Given the description of an element on the screen output the (x, y) to click on. 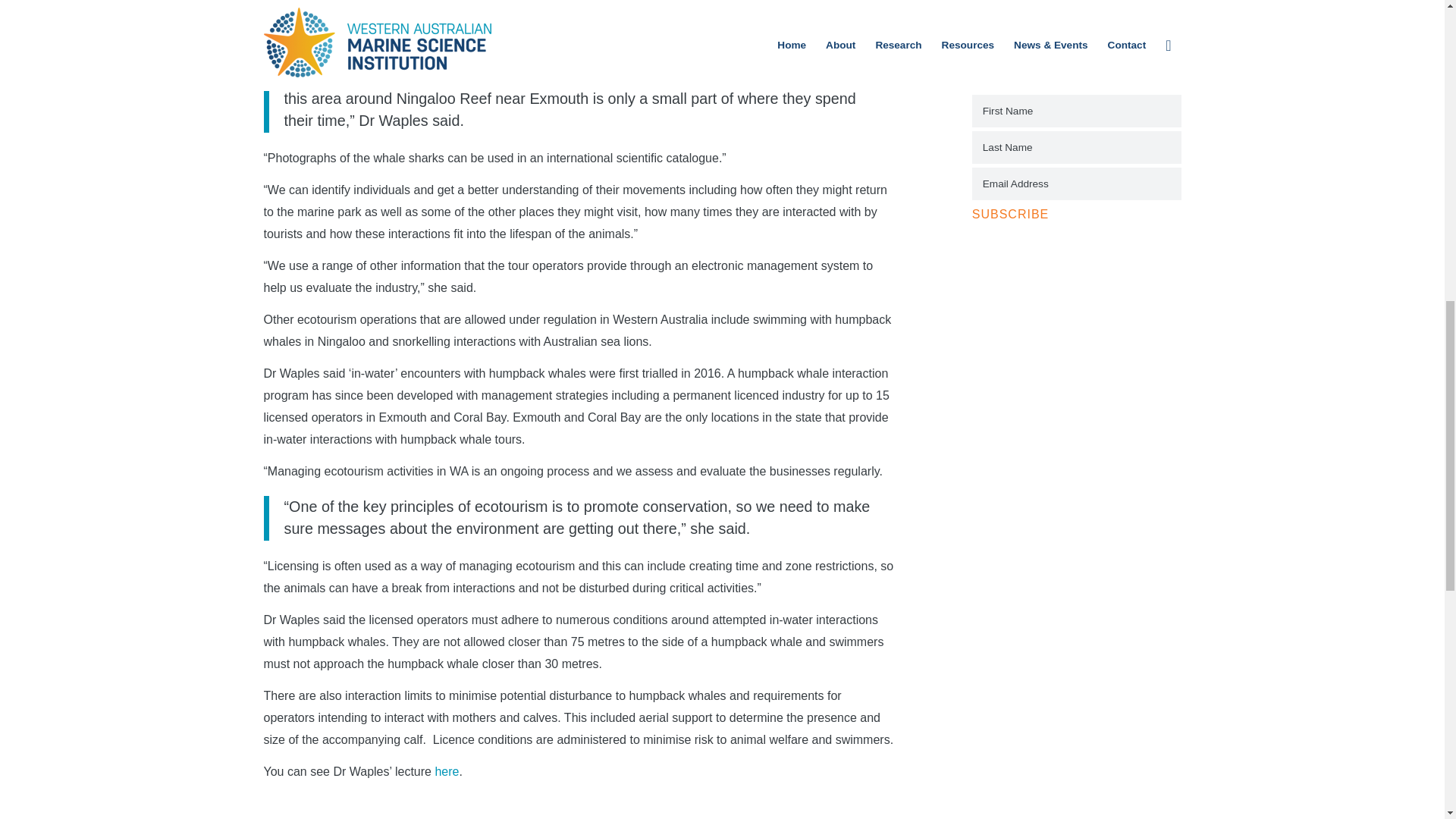
Subscribe (1010, 215)
here (445, 771)
Subscribe (1010, 215)
